Given the description of an element on the screen output the (x, y) to click on. 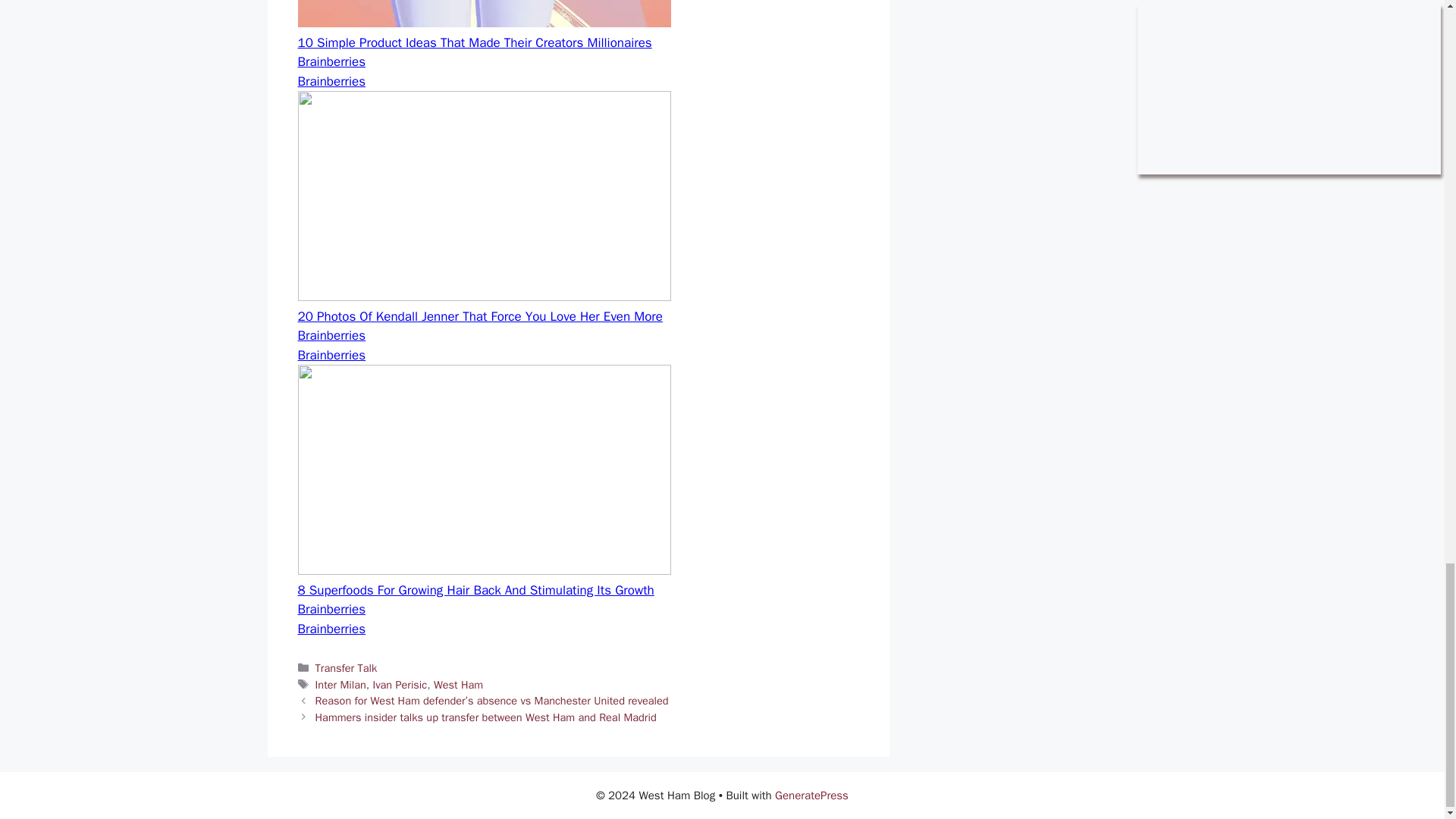
Inter Milan (340, 684)
Transfer Talk (346, 667)
Ivan Perisic (399, 684)
West Ham (458, 684)
